Given the description of an element on the screen output the (x, y) to click on. 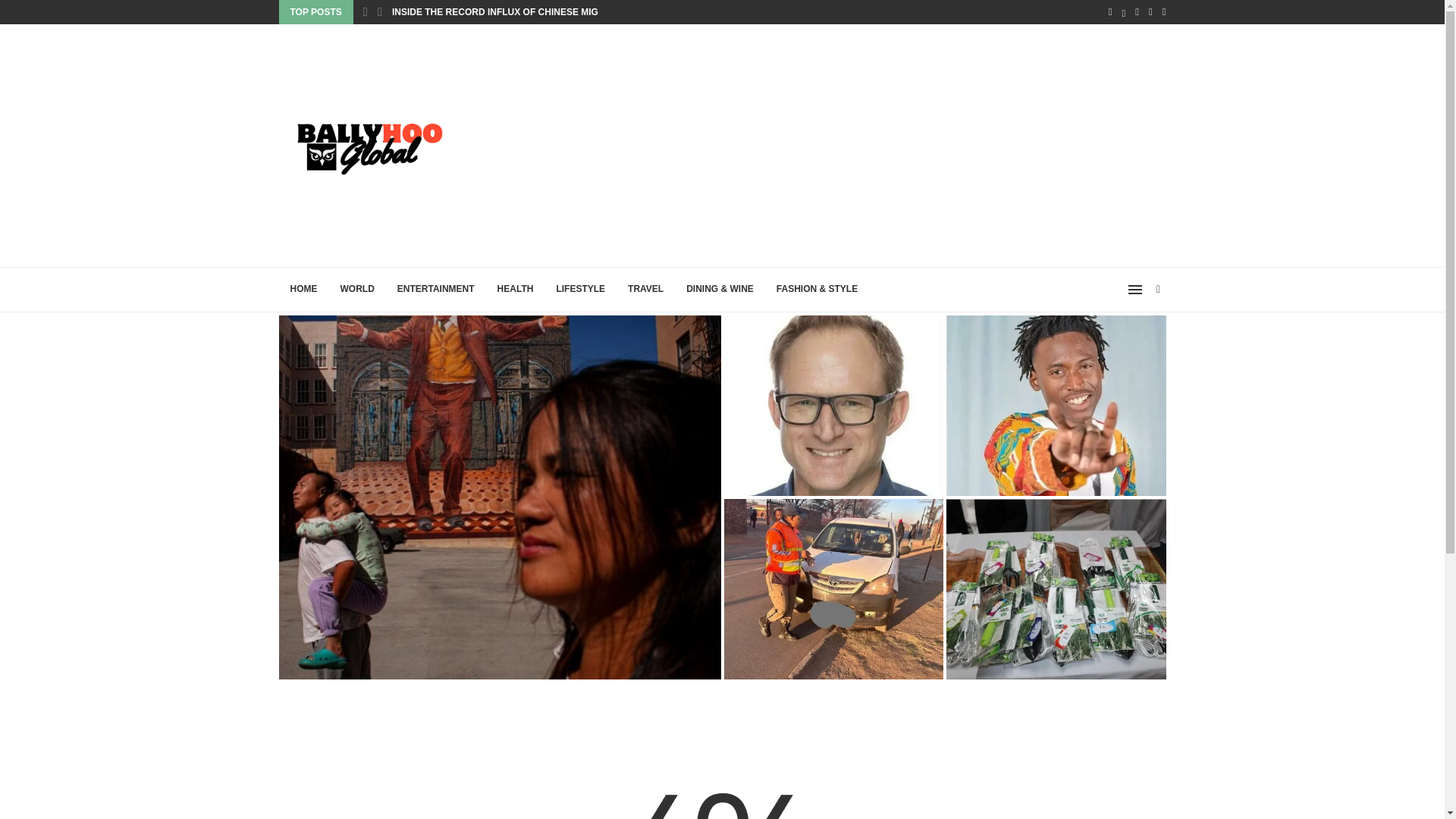
HOME (304, 289)
TRAVEL (645, 289)
EMPD speaks road safety to learners (833, 588)
WORLD (357, 289)
INSIDE THE RECORD INFLUX OF CHINESE MIGRANTS CROSSING... (539, 12)
Local artist releases new single (1056, 405)
ENTERTAINMENT (435, 289)
Doctors advise how to protect against mpox (833, 405)
HEALTH (515, 289)
Forum launches home gardening project (1056, 588)
LIFESTYLE (579, 289)
